Given the description of an element on the screen output the (x, y) to click on. 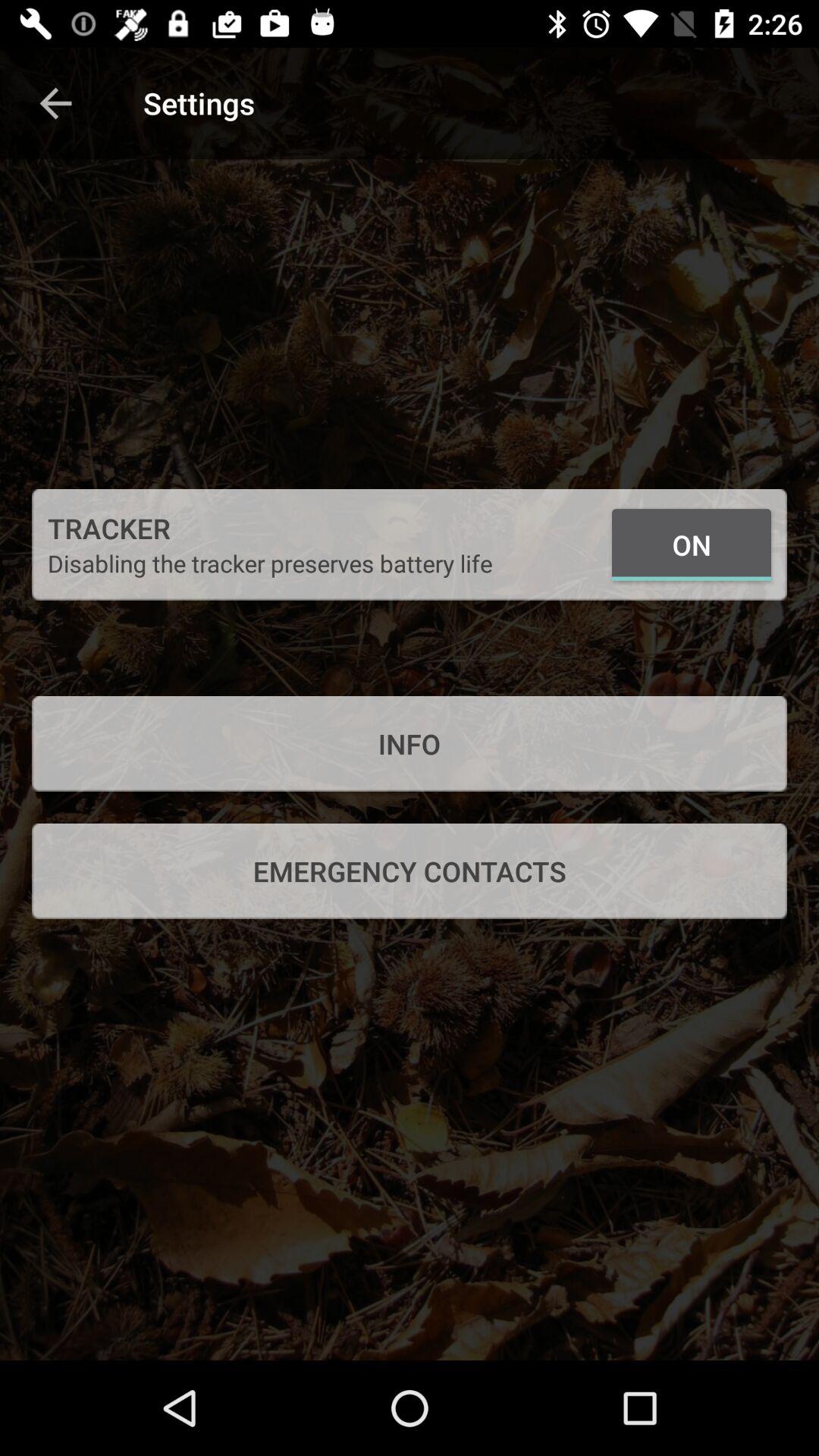
open the icon below info (409, 871)
